Given the description of an element on the screen output the (x, y) to click on. 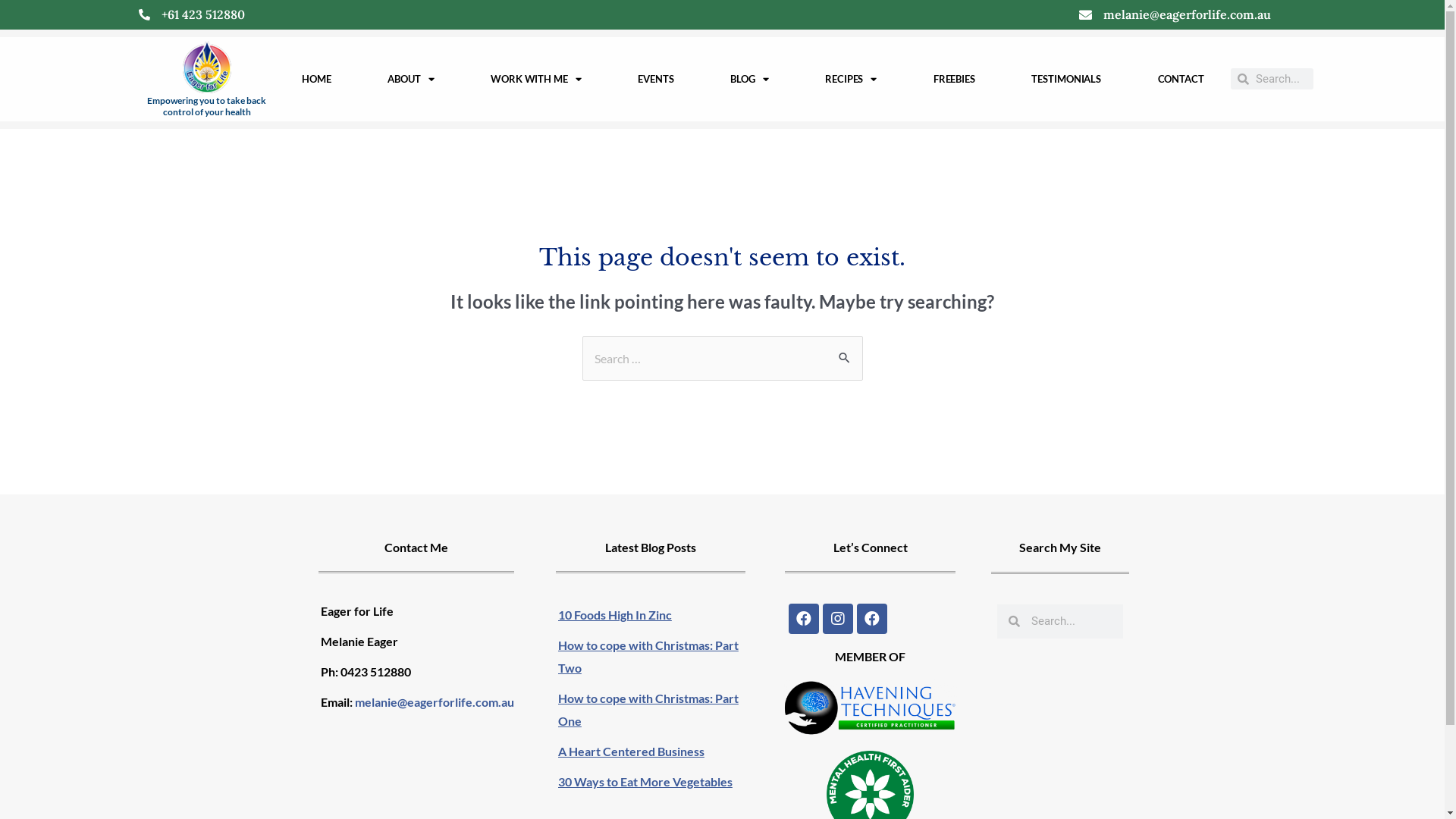
How to cope with Christmas: Part Two Element type: text (658, 656)
WORK WITH ME Element type: text (535, 78)
HOME Element type: text (315, 78)
RECIPES Element type: text (850, 78)
30 Ways to Eat More Vegetables Element type: text (658, 781)
Search Element type: text (845, 351)
10 Foods High In Zinc Element type: text (658, 614)
ABOUT Element type: text (411, 78)
Email: melanie@eagerforlife.com.au Element type: text (416, 701)
TESTIMONIALS Element type: text (1066, 78)
BLOG Element type: text (749, 78)
+61 423 512880 Element type: text (202, 13)
A Heart Centered Business Element type: text (658, 751)
How to cope with Christmas: Part One Element type: text (658, 709)
melanie@eagerforlife.com.au Element type: text (1186, 13)
FREEBIES Element type: text (954, 78)
Ph: 0423 512880 Element type: text (365, 671)
EVENTS Element type: text (656, 78)
CONTACT Element type: text (1180, 78)
